Given the description of an element on the screen output the (x, y) to click on. 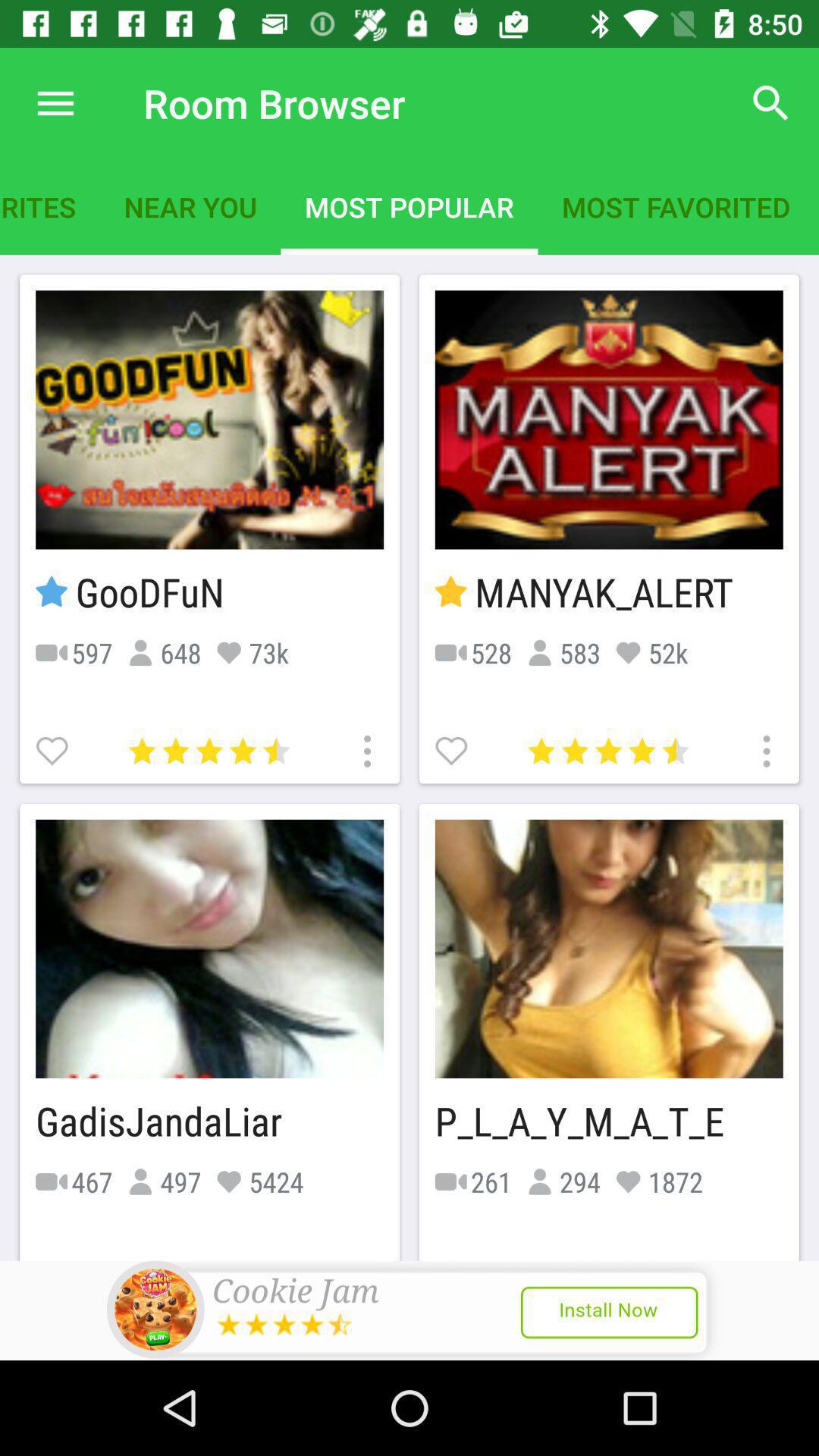
add to favorites (53, 749)
